Given the description of an element on the screen output the (x, y) to click on. 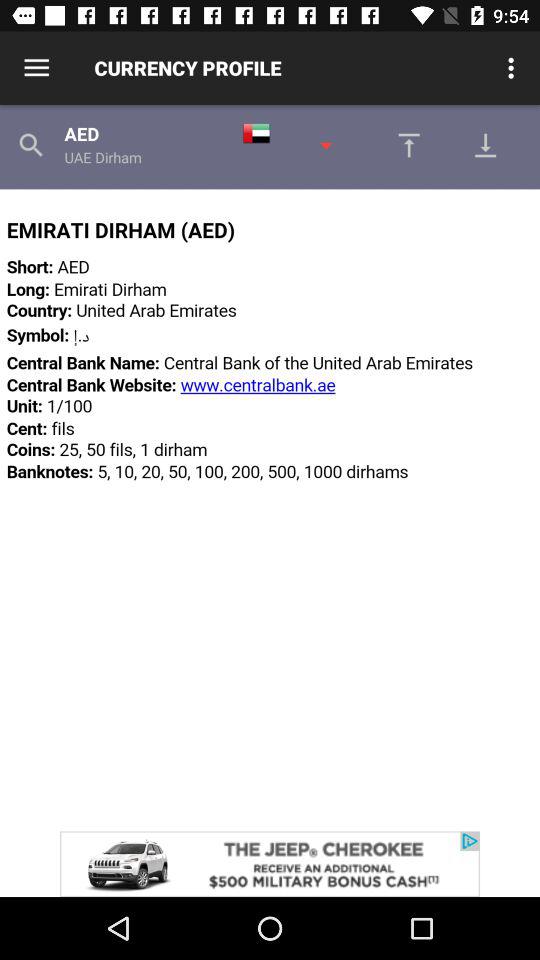
advertisement (270, 864)
